Given the description of an element on the screen output the (x, y) to click on. 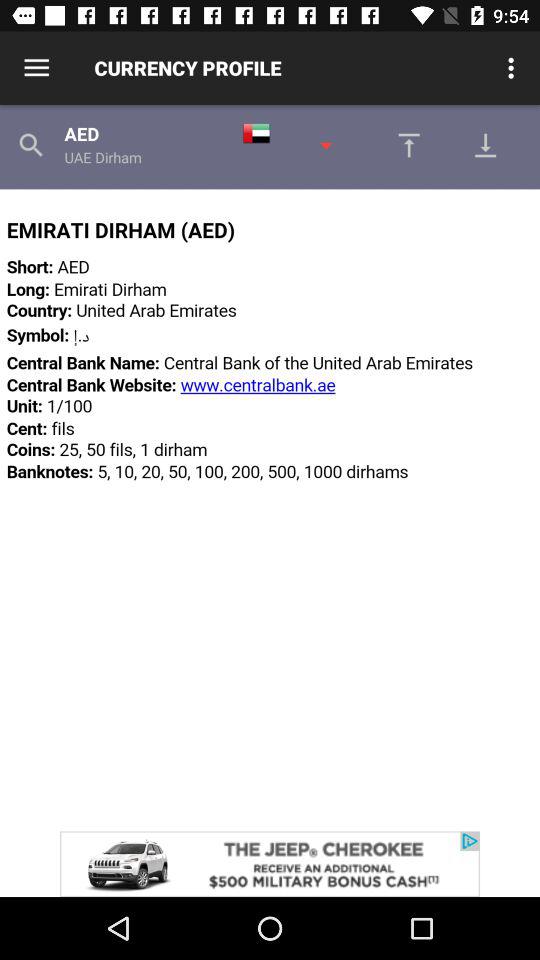
advertisement (270, 864)
